Given the description of an element on the screen output the (x, y) to click on. 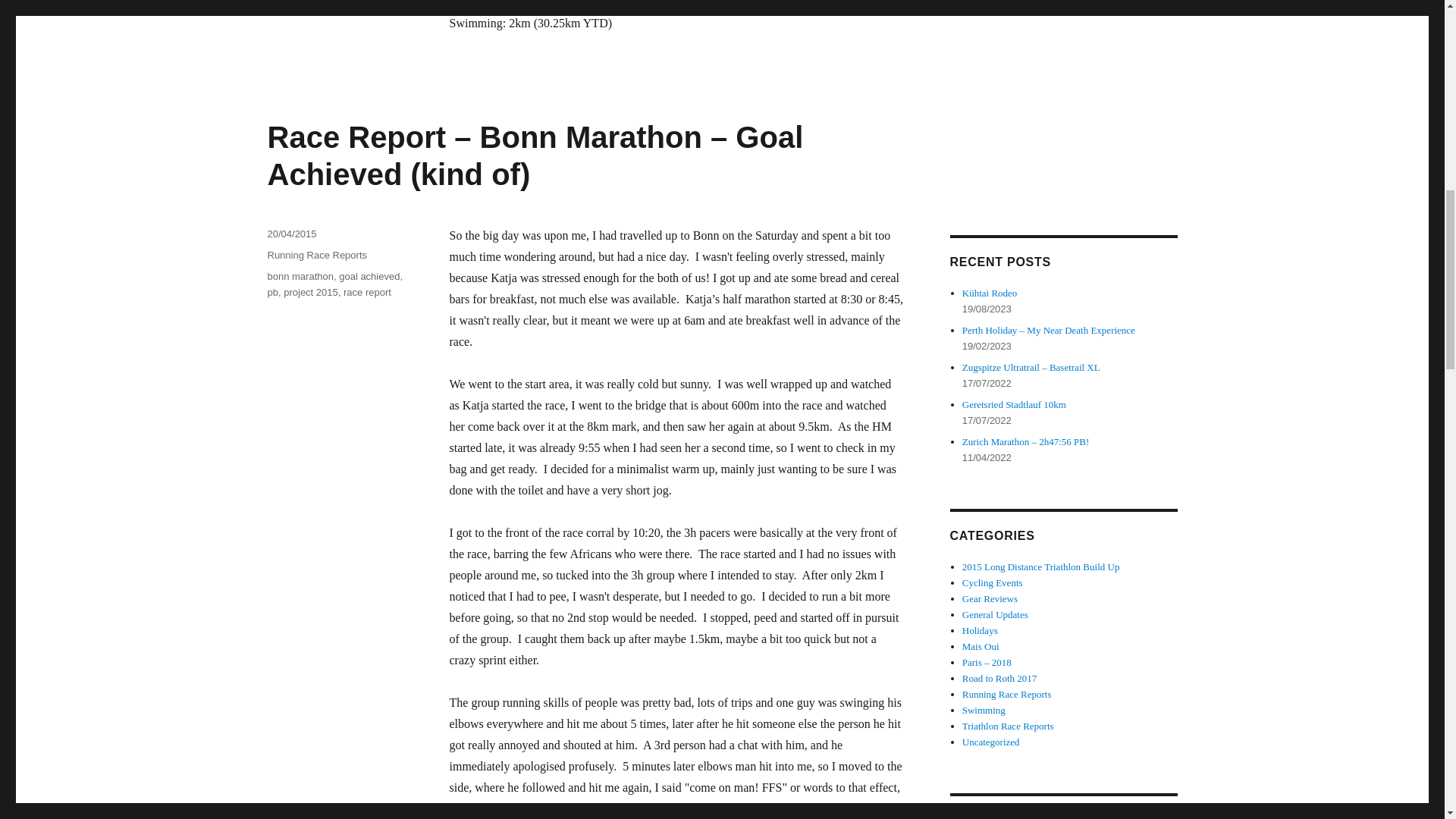
project 2015 (310, 292)
bonn marathon (299, 276)
Running Race Reports (316, 255)
pb (272, 292)
race report (367, 292)
goal achieved (368, 276)
